Given the description of an element on the screen output the (x, y) to click on. 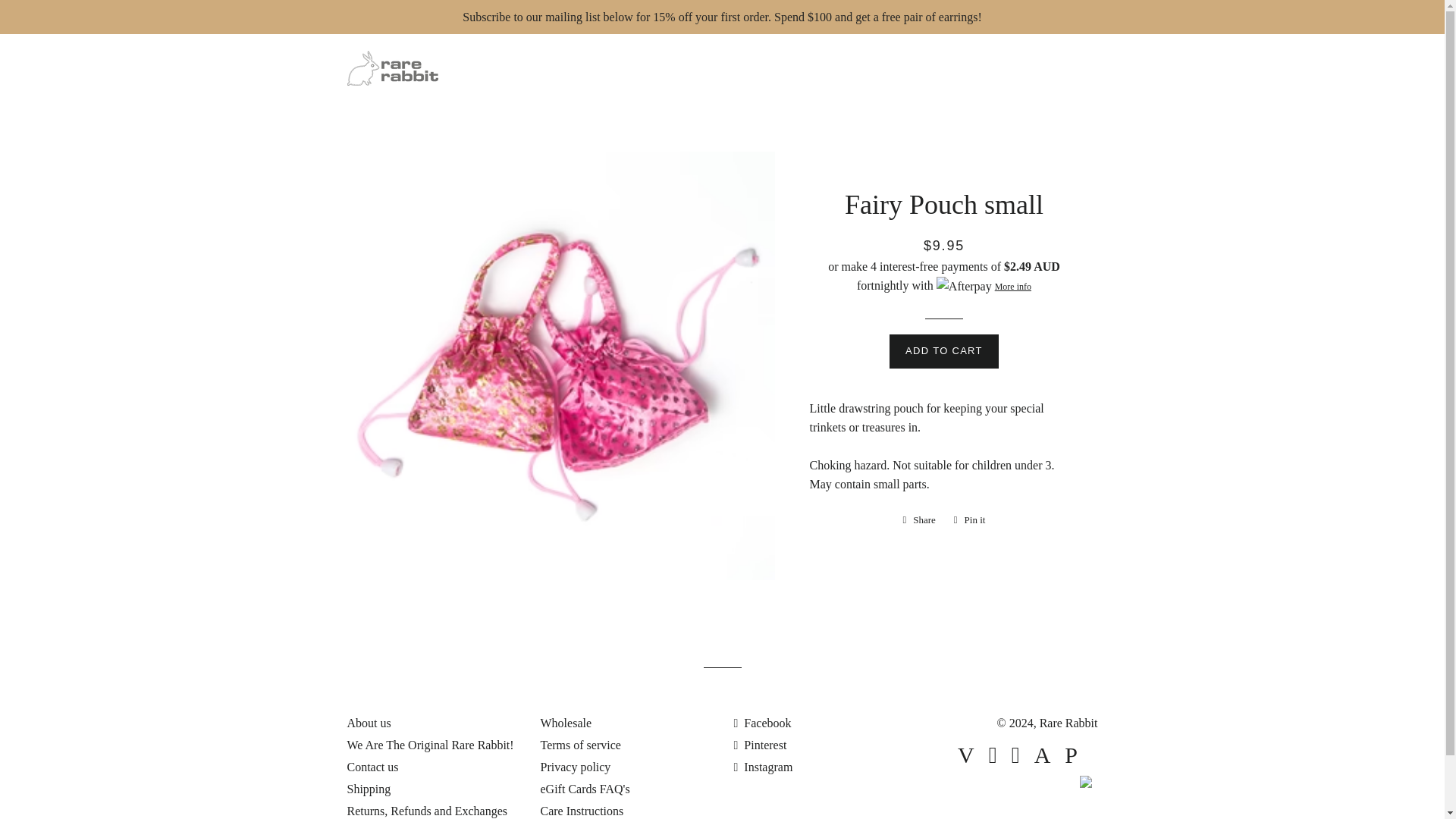
Rare Rabbit on Pinterest (760, 744)
Rare Rabbit on Facebook (762, 722)
Pin on Pinterest (969, 519)
Rare Rabbit on Instagram (763, 766)
Share on Facebook (918, 519)
